Given the description of an element on the screen output the (x, y) to click on. 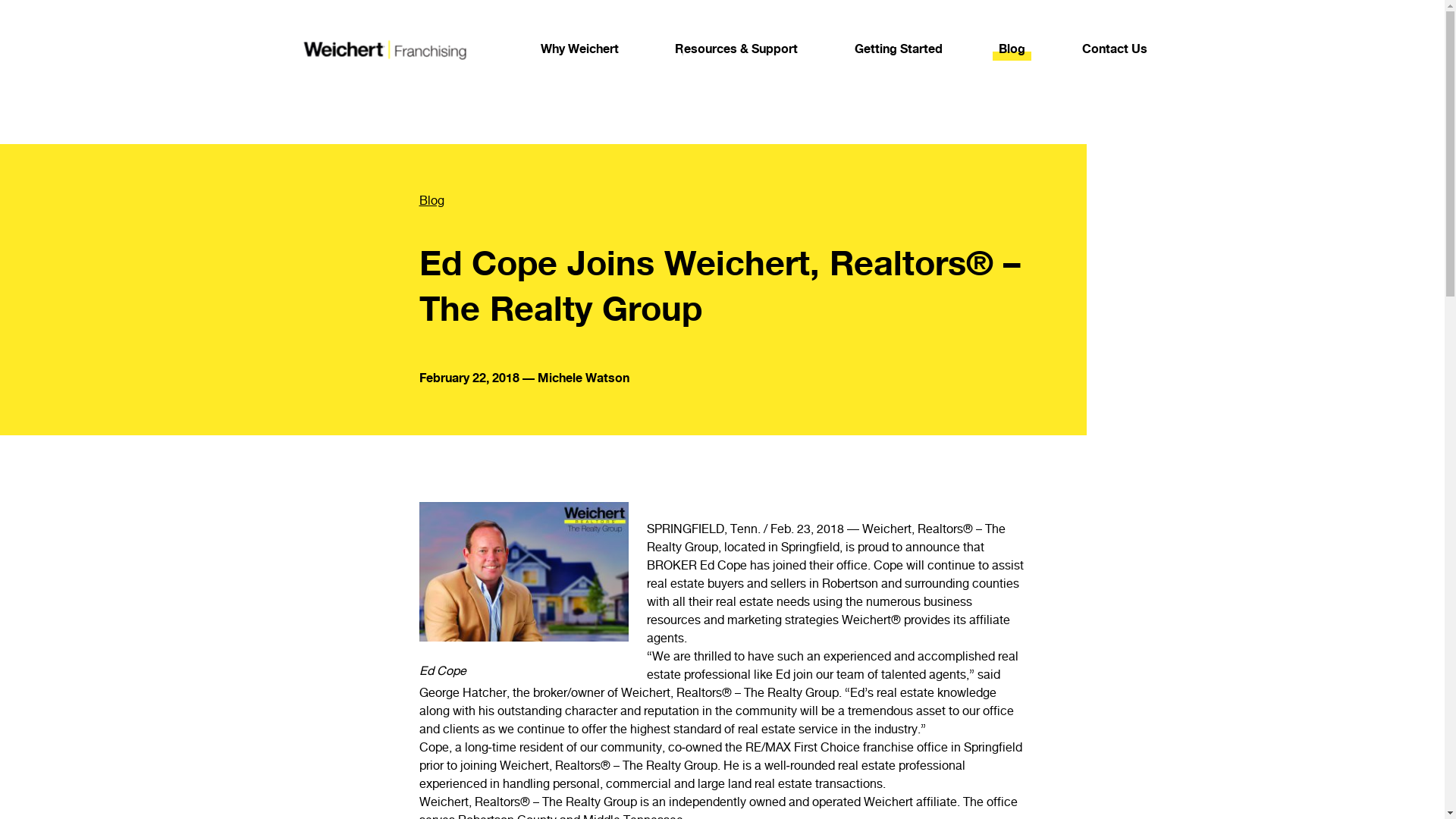
Blog (702, 200)
Blog (1011, 48)
Why Weichert (578, 48)
Getting Started (897, 48)
Contact Us (1114, 48)
Home (382, 49)
